Given the description of an element on the screen output the (x, y) to click on. 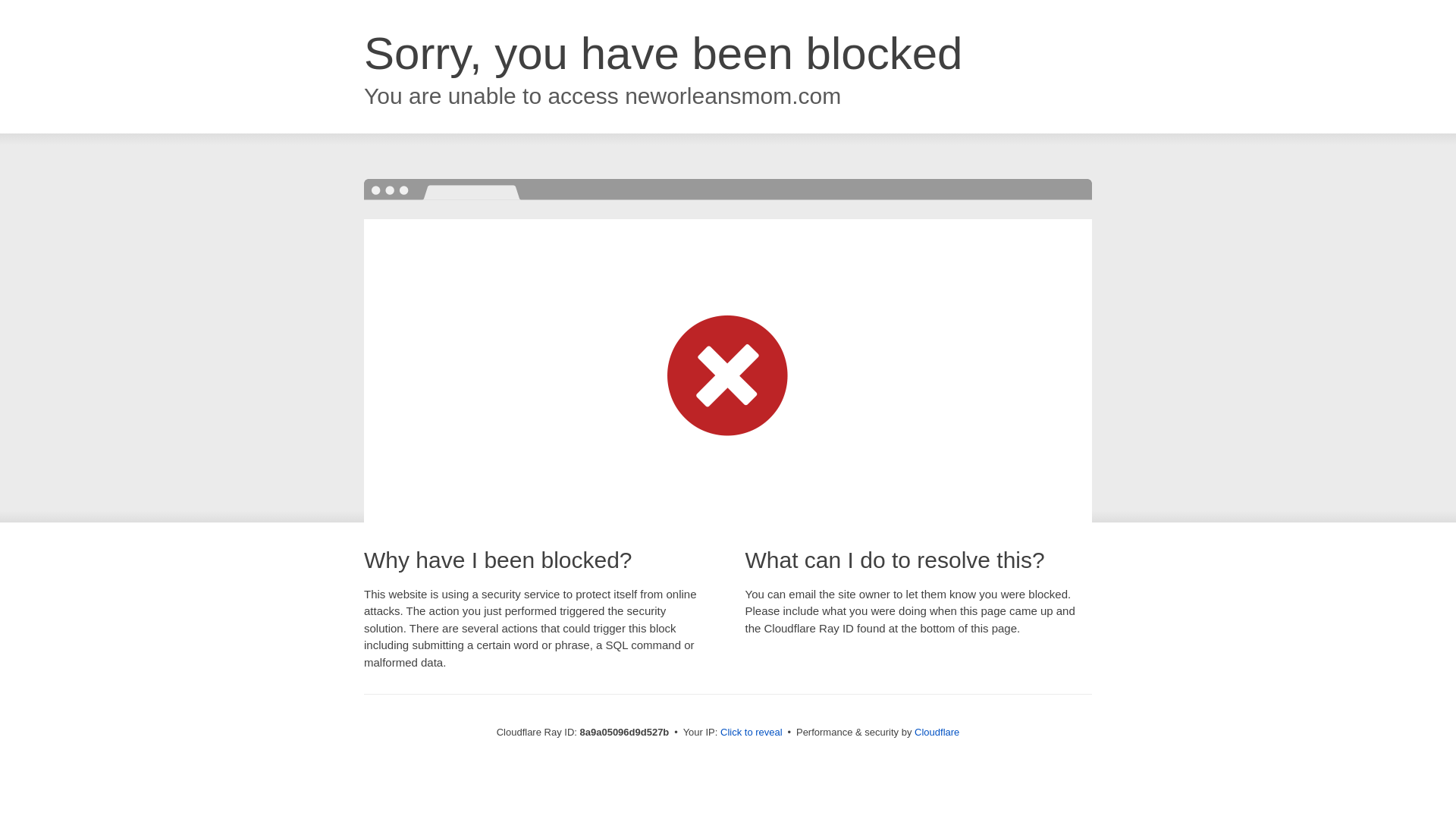
Cloudflare (936, 731)
Click to reveal (751, 732)
